Given the description of an element on the screen output the (x, y) to click on. 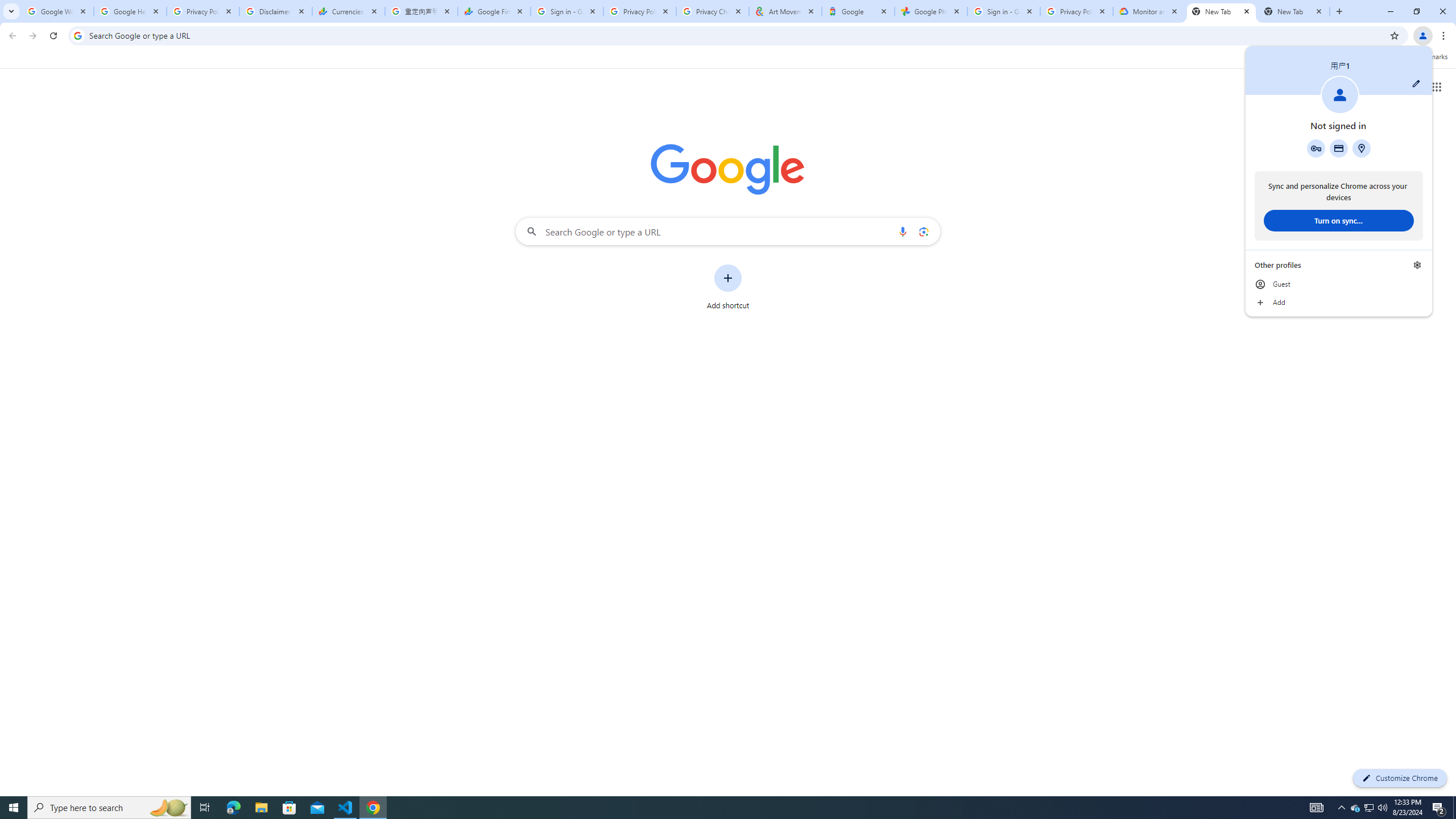
Sign in - Google Accounts (1003, 11)
Customize profile (1415, 83)
Microsoft Store (289, 807)
Google Chrome - 1 running window (373, 807)
Google Workspace Admin Community (57, 11)
User Promoted Notification Area (1368, 807)
Notification Chevron (1341, 807)
Search highlights icon opens search home window (167, 807)
